Given the description of an element on the screen output the (x, y) to click on. 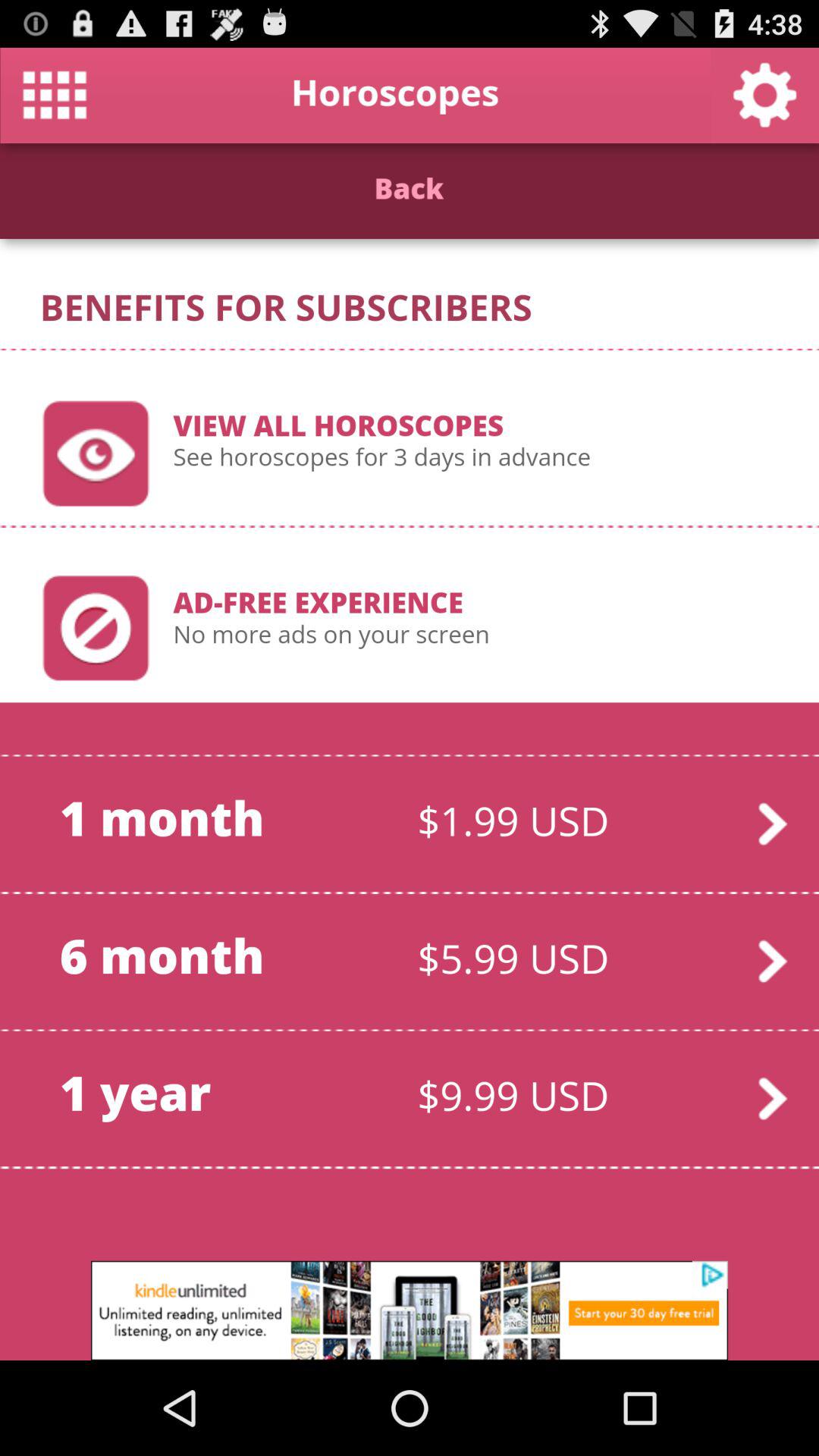
open advertisement (409, 1310)
